Given the description of an element on the screen output the (x, y) to click on. 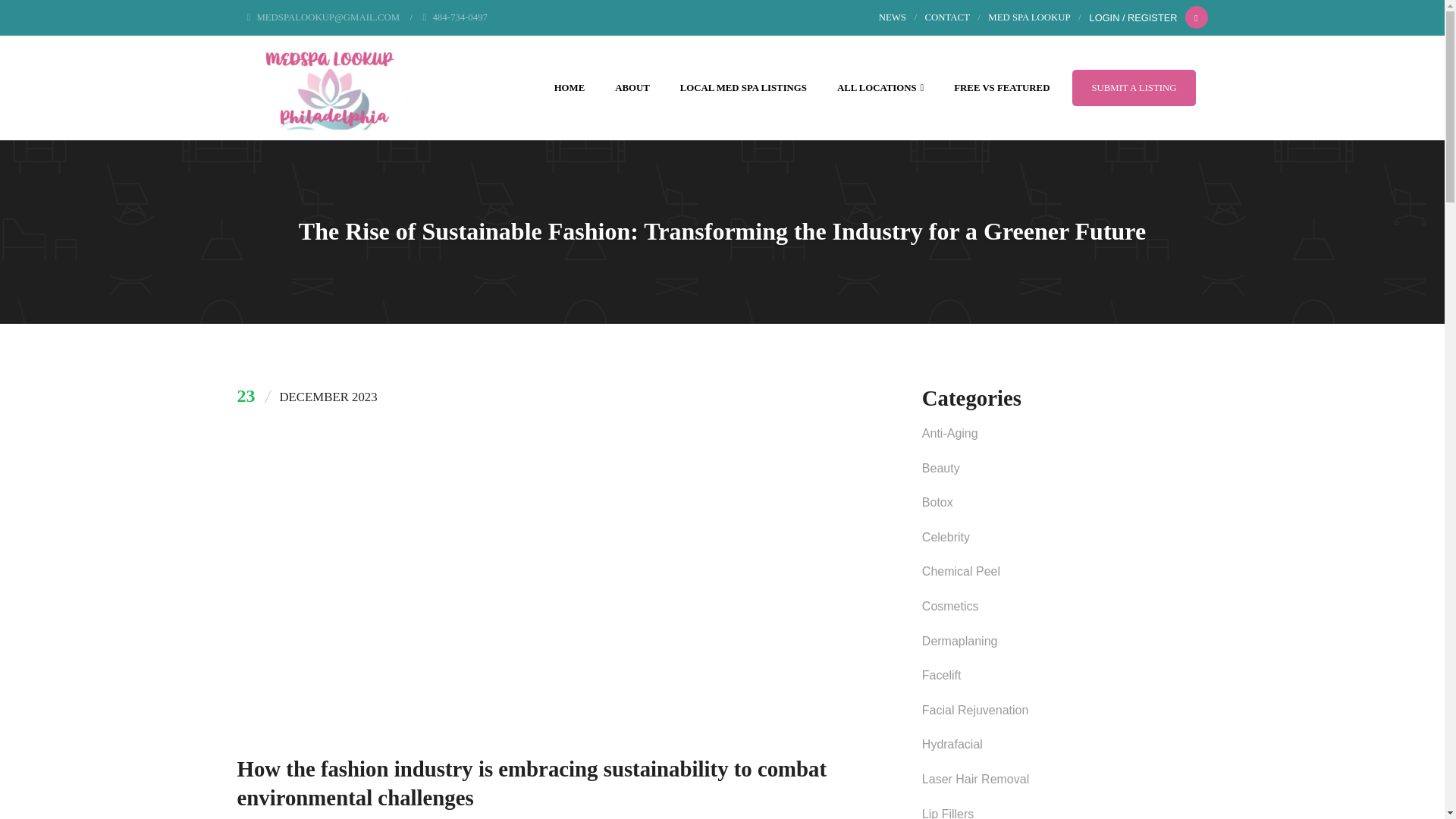
FREE VS FEATURED (1001, 87)
ABOUT (632, 87)
484-734-0497 (455, 17)
MED SPA LOOKUP (1029, 17)
HOME (569, 87)
CONTACT (946, 17)
ALL LOCATIONS (880, 87)
SUBMIT A LISTING (1133, 87)
LOCAL MED SPA LISTINGS (742, 87)
